Given the description of an element on the screen output the (x, y) to click on. 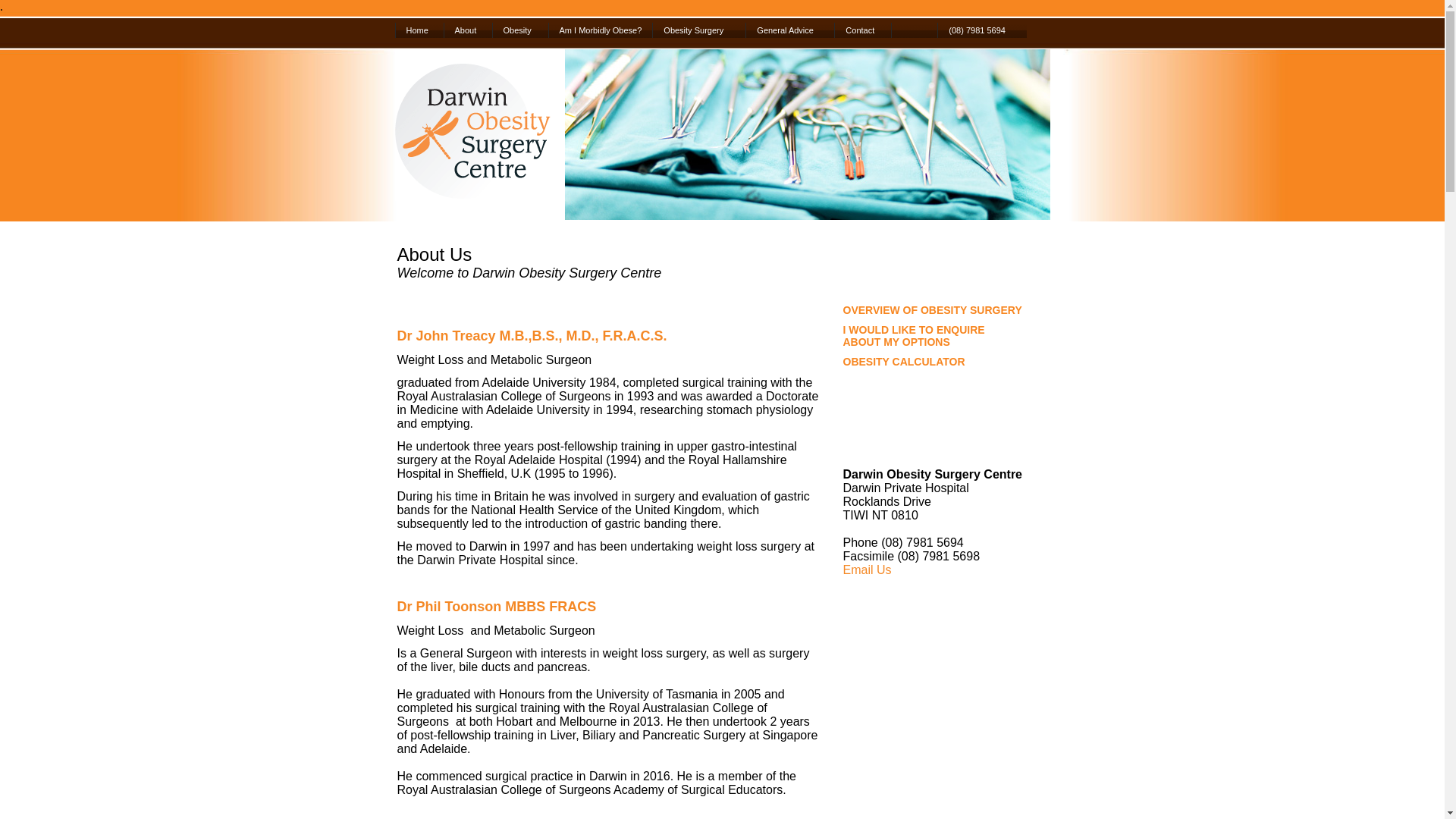
Obesity Element type: text (519, 29)
Contact Element type: text (862, 29)
Am I Morbidly Obese? Element type: text (599, 29)
Obesity Surgery Element type: text (698, 29)
General Advice Element type: text (789, 29)
I WOULD LIKE TO ENQUIRE
ABOUT MY OPTIONS Element type: text (914, 335)
OBESITY CALCULATOR Element type: text (904, 361)
About Element type: text (466, 29)
Home Element type: text (418, 29)
(08) 7981 5694 Element type: text (981, 29)
Email Us Element type: text (867, 569)
OVERVIEW OF OBESITY SURGERY Element type: text (932, 310)
